Given the description of an element on the screen output the (x, y) to click on. 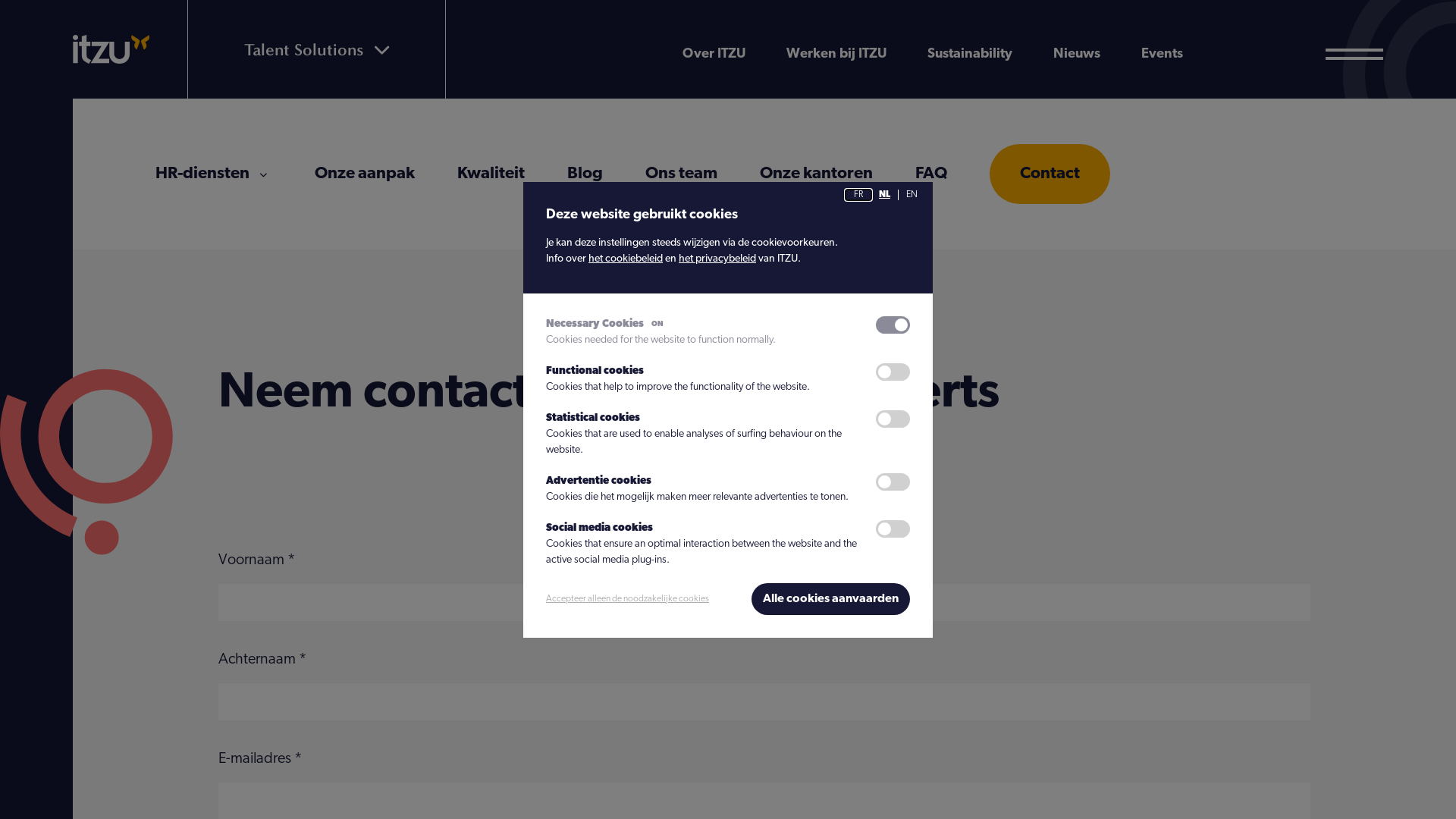
Overslaan en naar de inhoud gaan Element type: text (0, 0)
het privacybeleid Element type: text (717, 258)
Nieuws Element type: text (1076, 54)
FAQ Element type: text (931, 173)
Home Element type: hover (110, 48)
het cookiebeleid Element type: text (625, 258)
Talent Solutions Element type: text (316, 49)
Blog Element type: text (584, 173)
Sustainability Element type: text (969, 54)
Over ITZU Element type: text (713, 54)
FR Element type: text (858, 193)
Contact Element type: text (1049, 173)
Accepteer alleen de noodzakelijke cookies Element type: text (627, 598)
Kwaliteit Element type: text (490, 173)
Events Element type: text (1162, 54)
HR-diensten Element type: text (202, 173)
Alle cookies aanvaarden Element type: text (830, 598)
Open the navigation
Close the navigation Element type: text (1354, 54)
Onze aanpak Element type: text (364, 173)
Werken bij ITZU Element type: text (836, 54)
Onze kantoren Element type: text (815, 173)
NL Element type: text (884, 193)
Ons team Element type: text (681, 173)
EN Element type: text (911, 193)
